Given the description of an element on the screen output the (x, y) to click on. 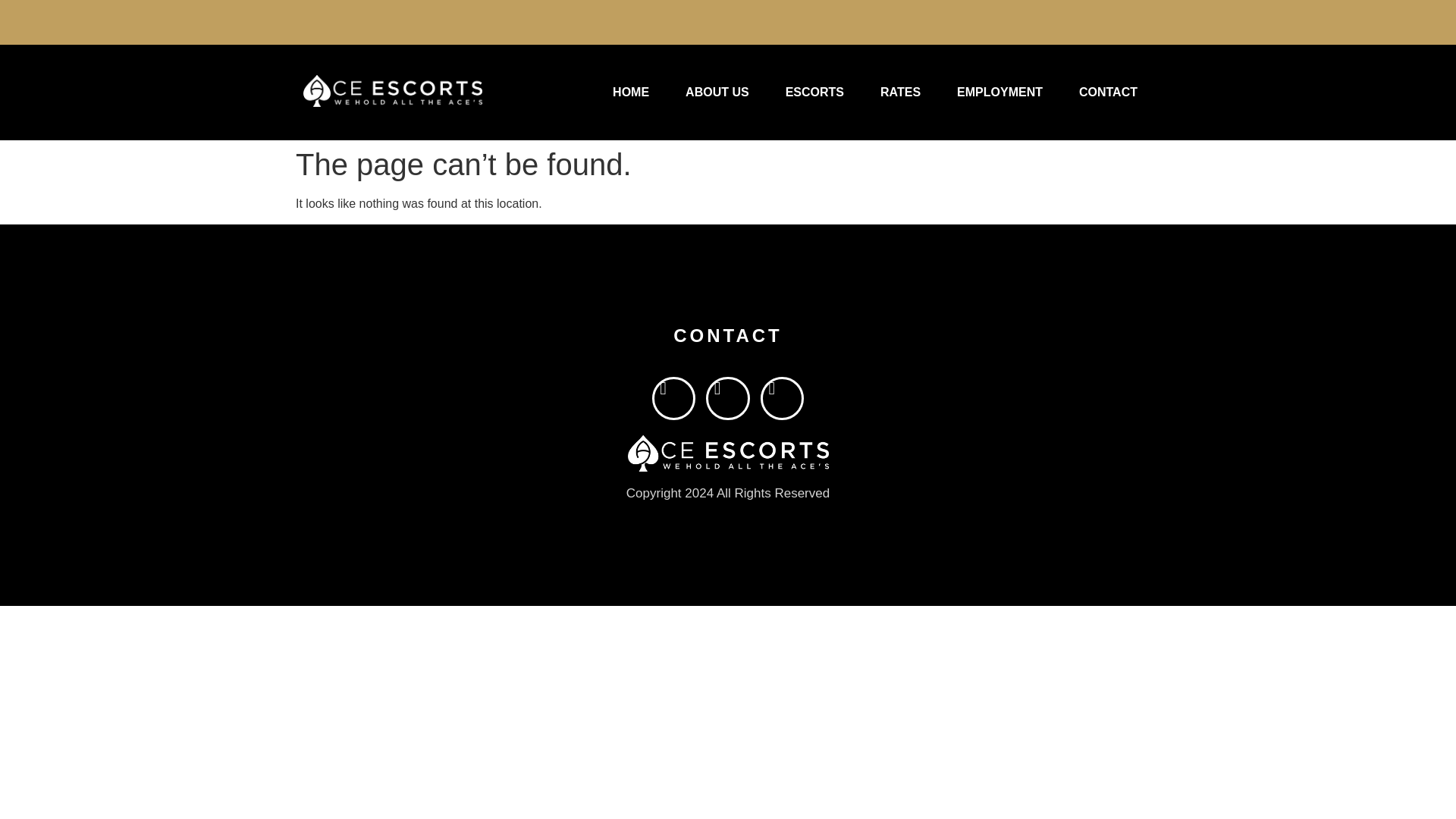
EMPLOYMENT (1000, 92)
HOME (629, 92)
ESCORTS (814, 92)
CONTACT (1108, 92)
ABOUT US (716, 92)
RATES (900, 92)
